Given the description of an element on the screen output the (x, y) to click on. 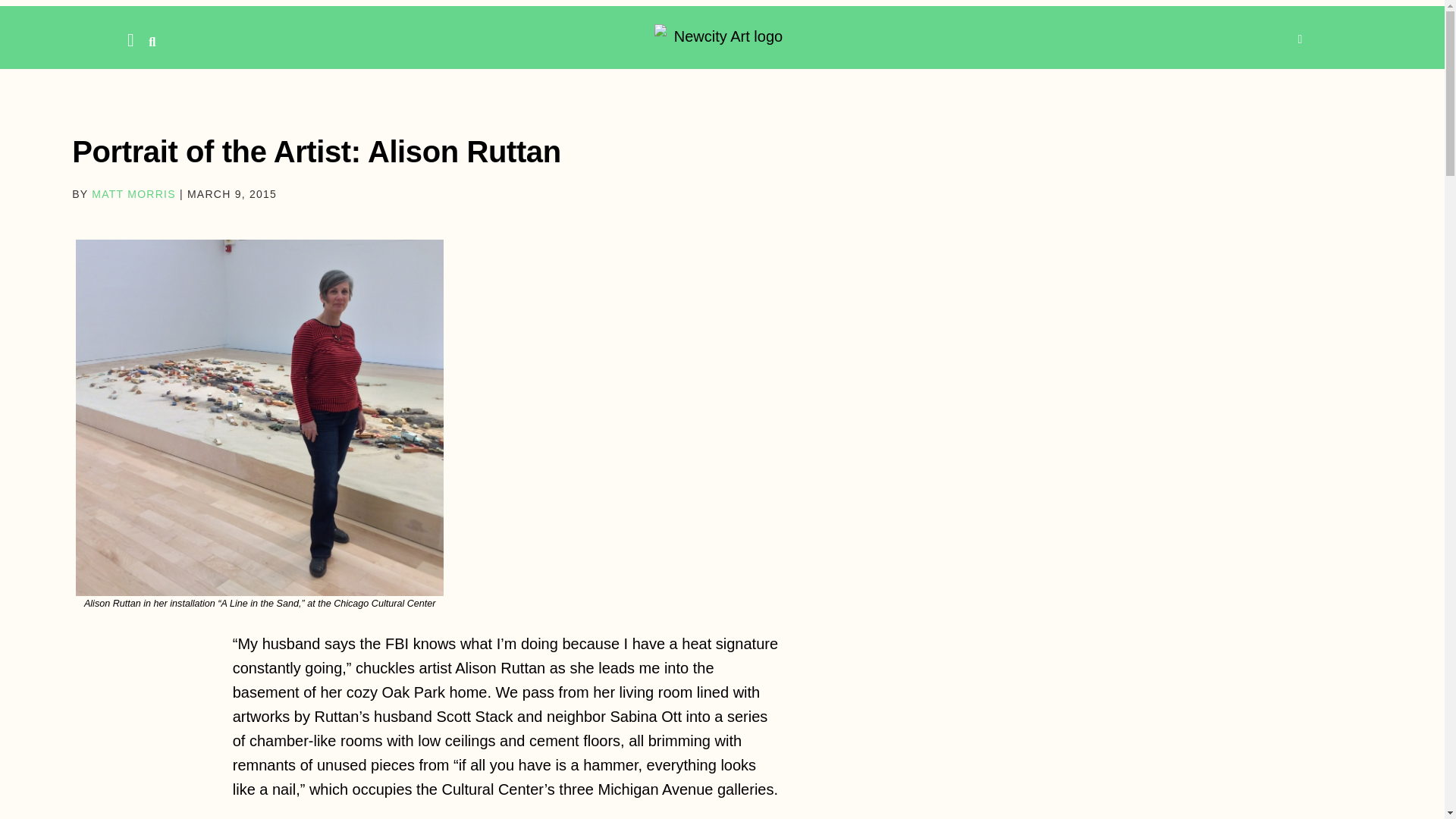
NewcityArt (721, 36)
MATT MORRIS (132, 193)
